Given the description of an element on the screen output the (x, y) to click on. 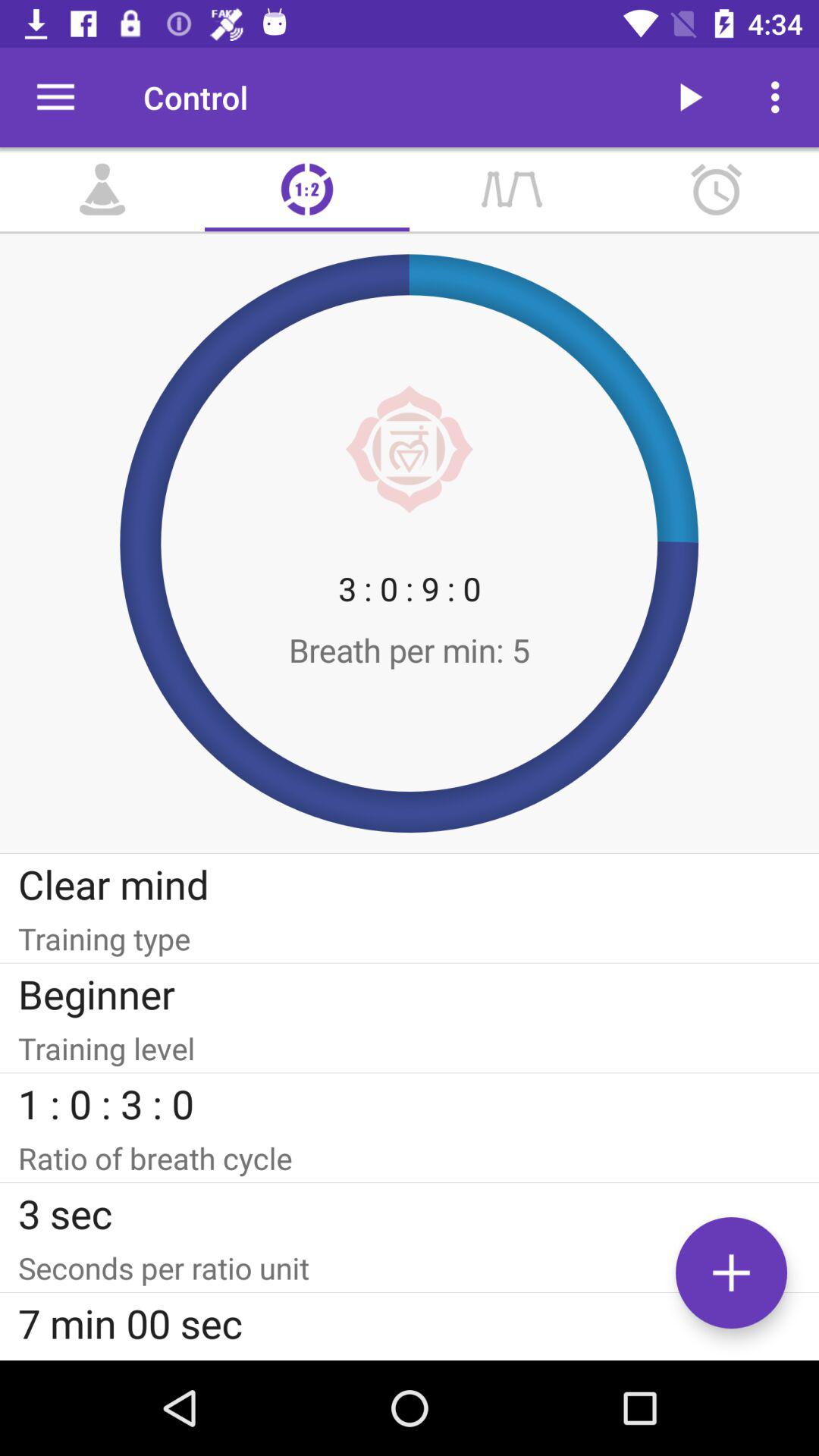
tap clear mind (409, 883)
